Given the description of an element on the screen output the (x, y) to click on. 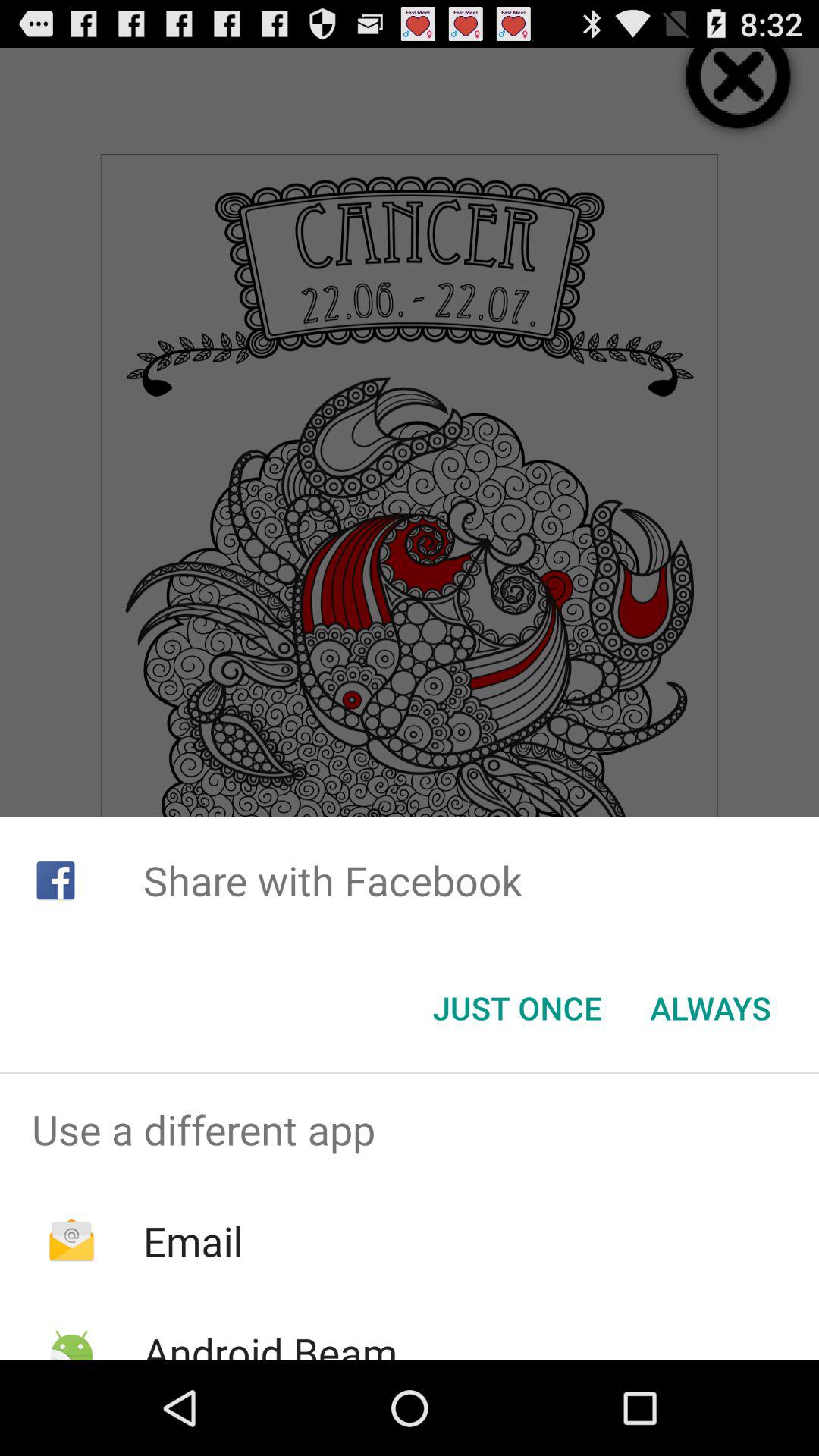
open item to the left of the always icon (517, 1007)
